Given the description of an element on the screen output the (x, y) to click on. 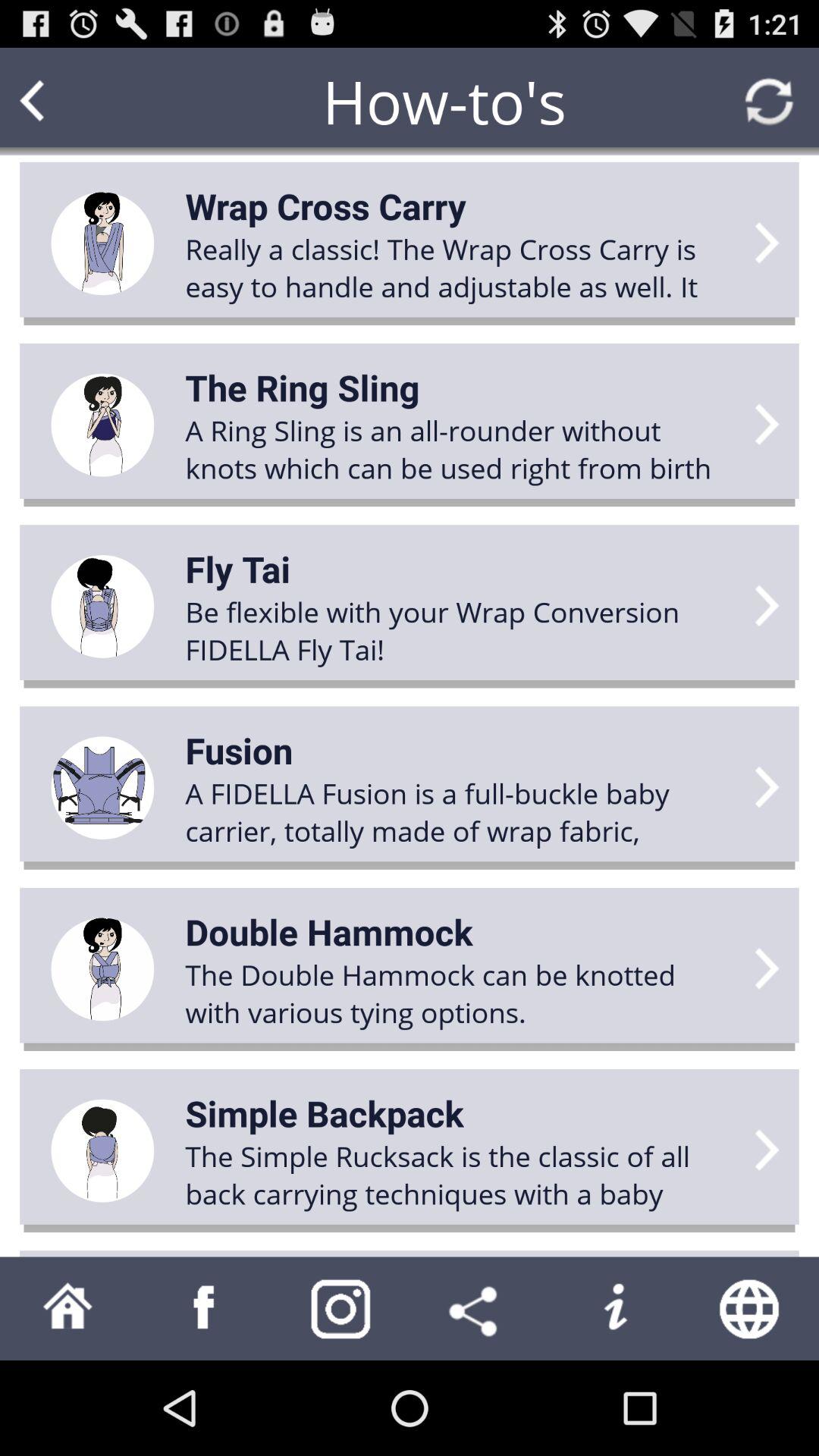
go to information (614, 1308)
